Given the description of an element on the screen output the (x, y) to click on. 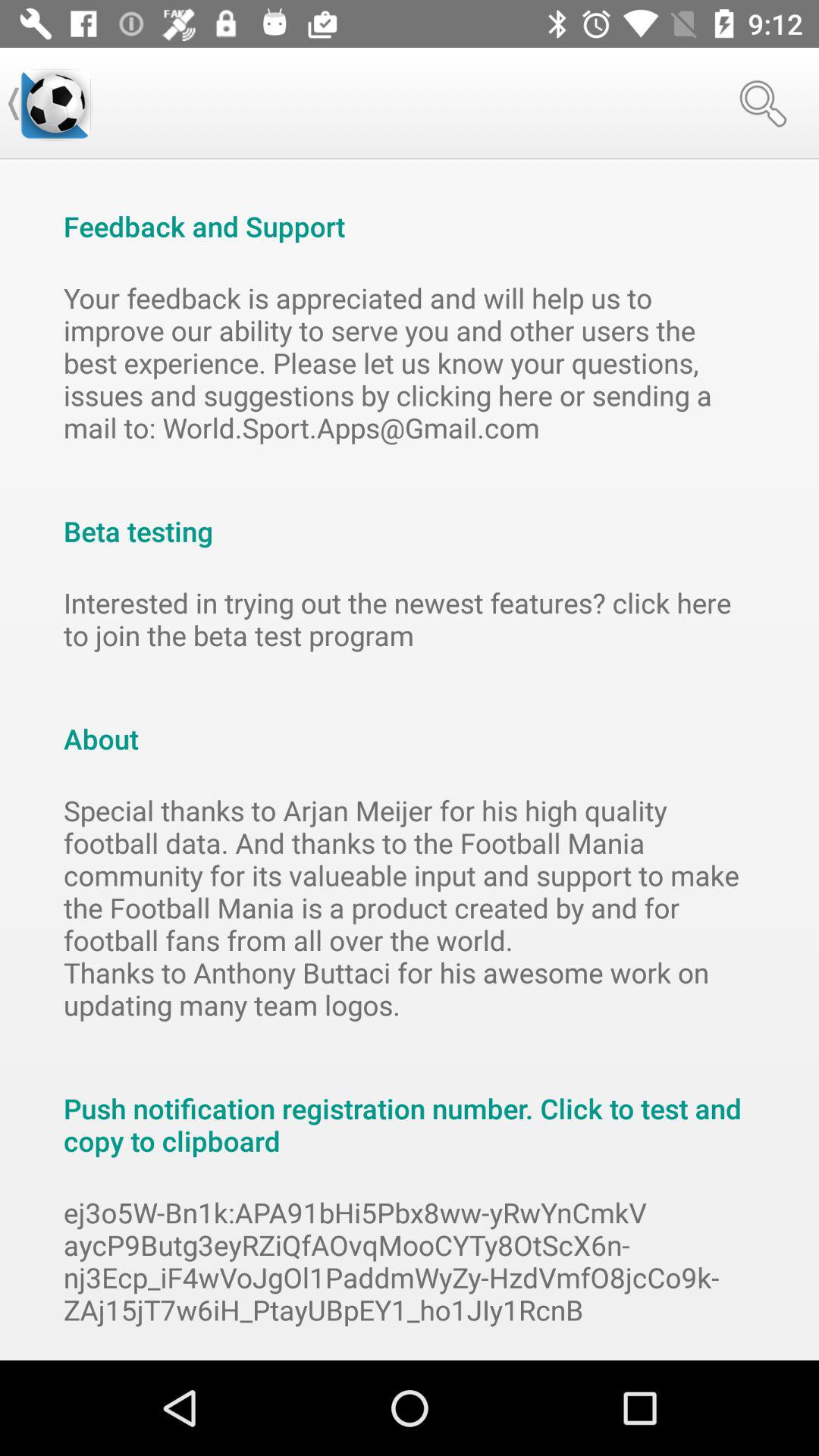
tap item at the top left corner (55, 103)
